Given the description of an element on the screen output the (x, y) to click on. 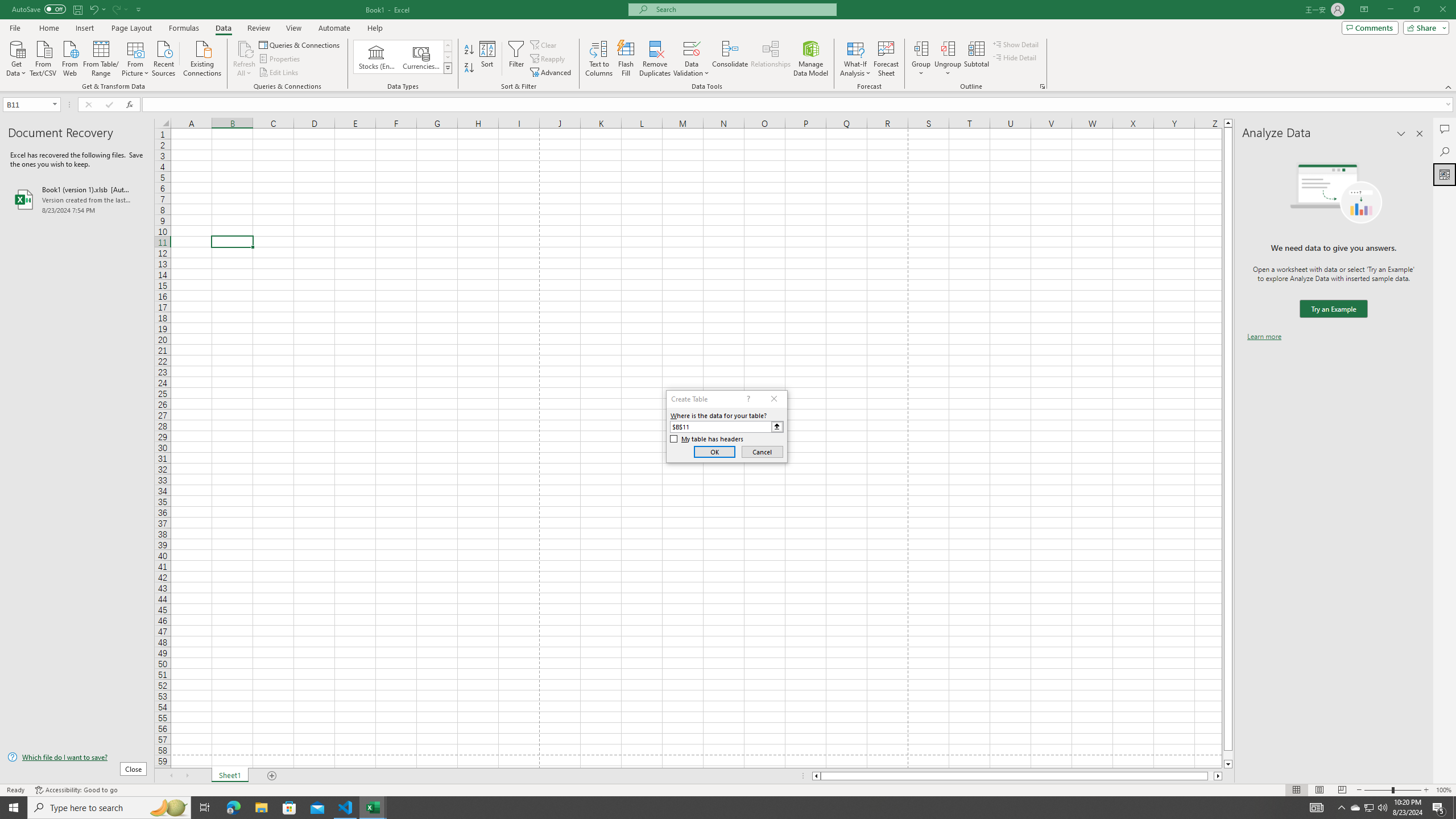
Learn more (1264, 336)
We need data to give you answers. Try an Example (1333, 308)
Recent Sources (163, 57)
Subtotal (976, 58)
